Given the description of an element on the screen output the (x, y) to click on. 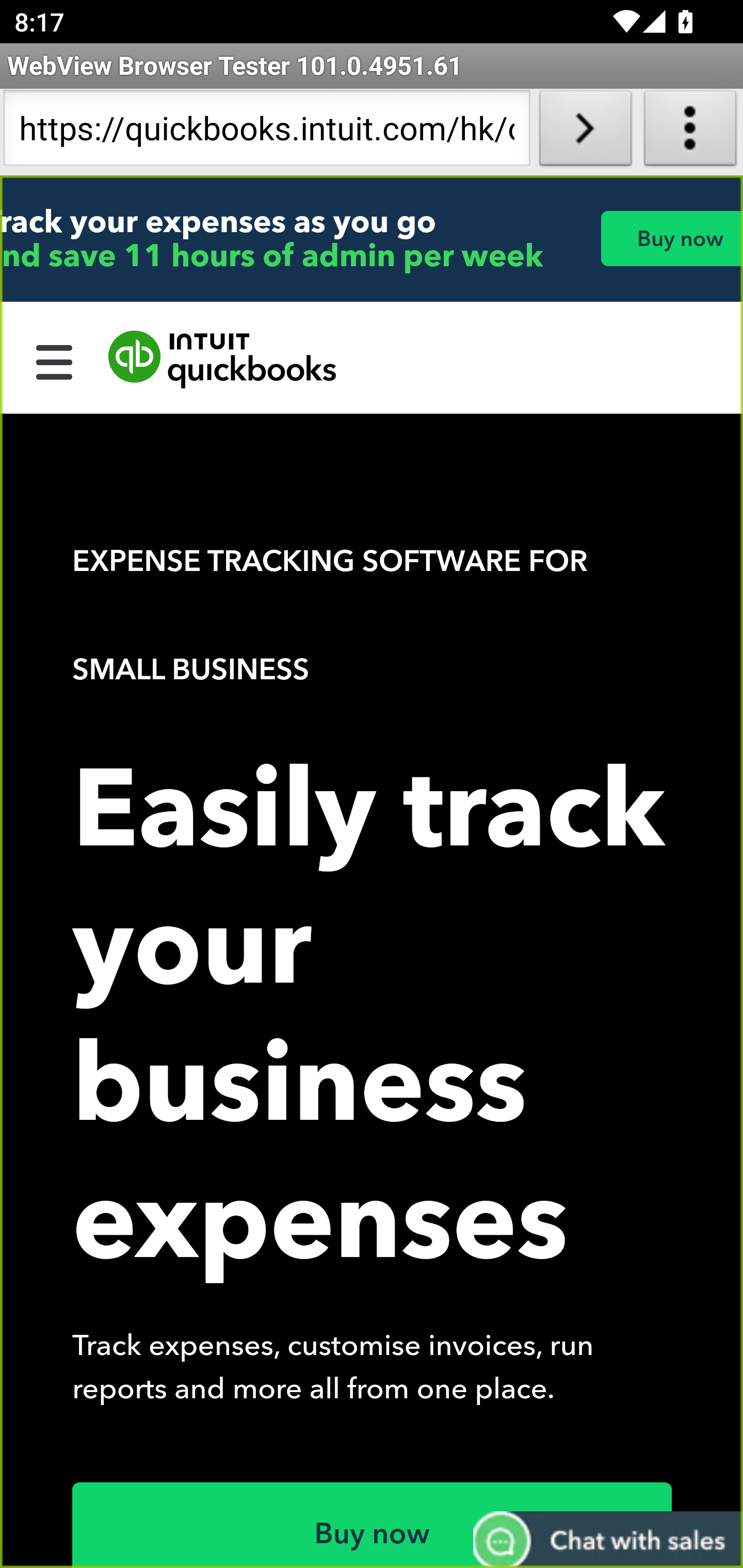
Load URL (585, 132)
About WebView (690, 132)
Buy now (671, 238)
quickbooks-mobile-burger (54, 359)
quickbooks (222, 359)
Buy now (372, 1524)
